Given the description of an element on the screen output the (x, y) to click on. 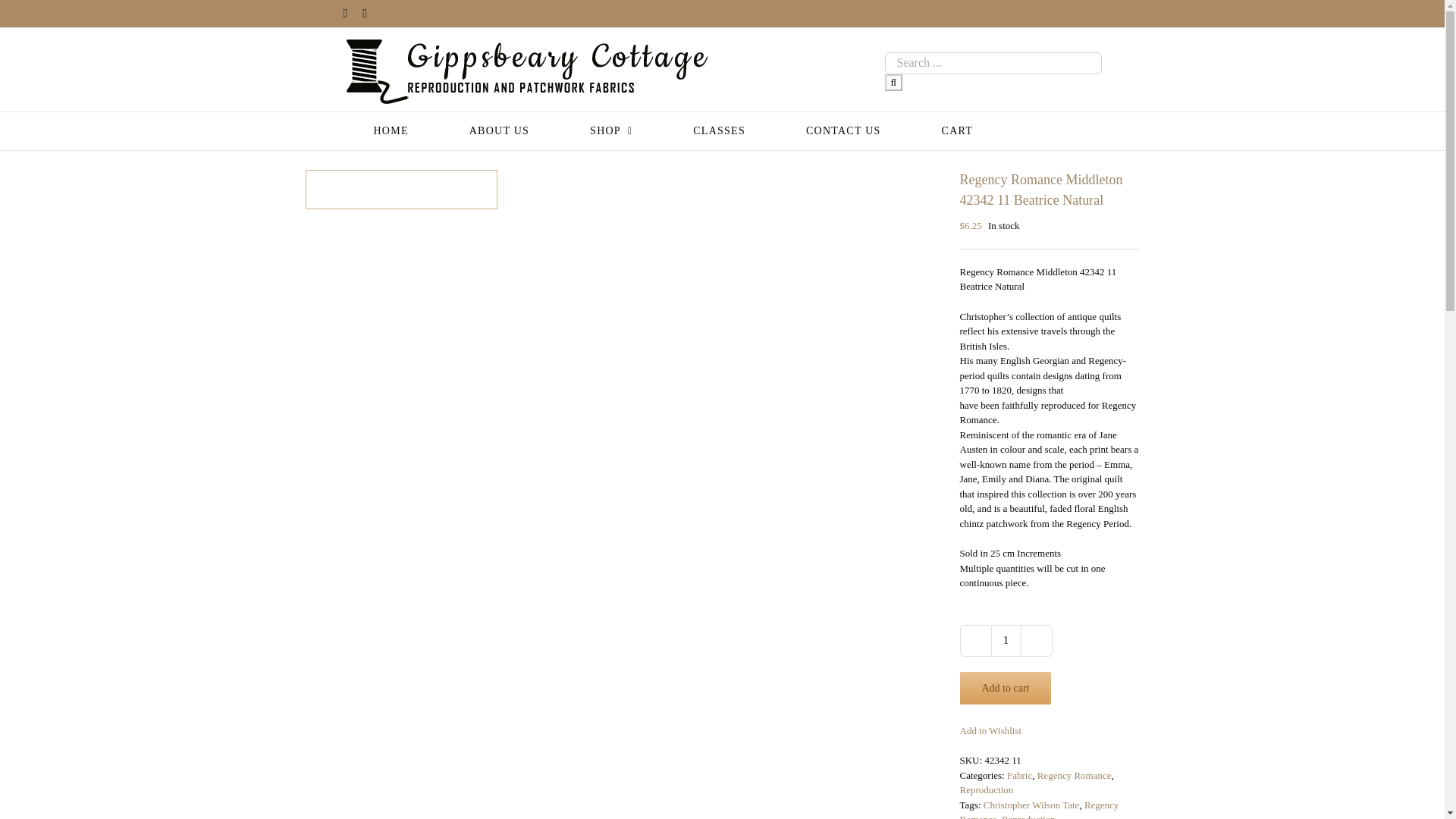
SHOP (610, 130)
HOME (390, 130)
ABOUT US (499, 130)
1 (1005, 639)
